Given the description of an element on the screen output the (x, y) to click on. 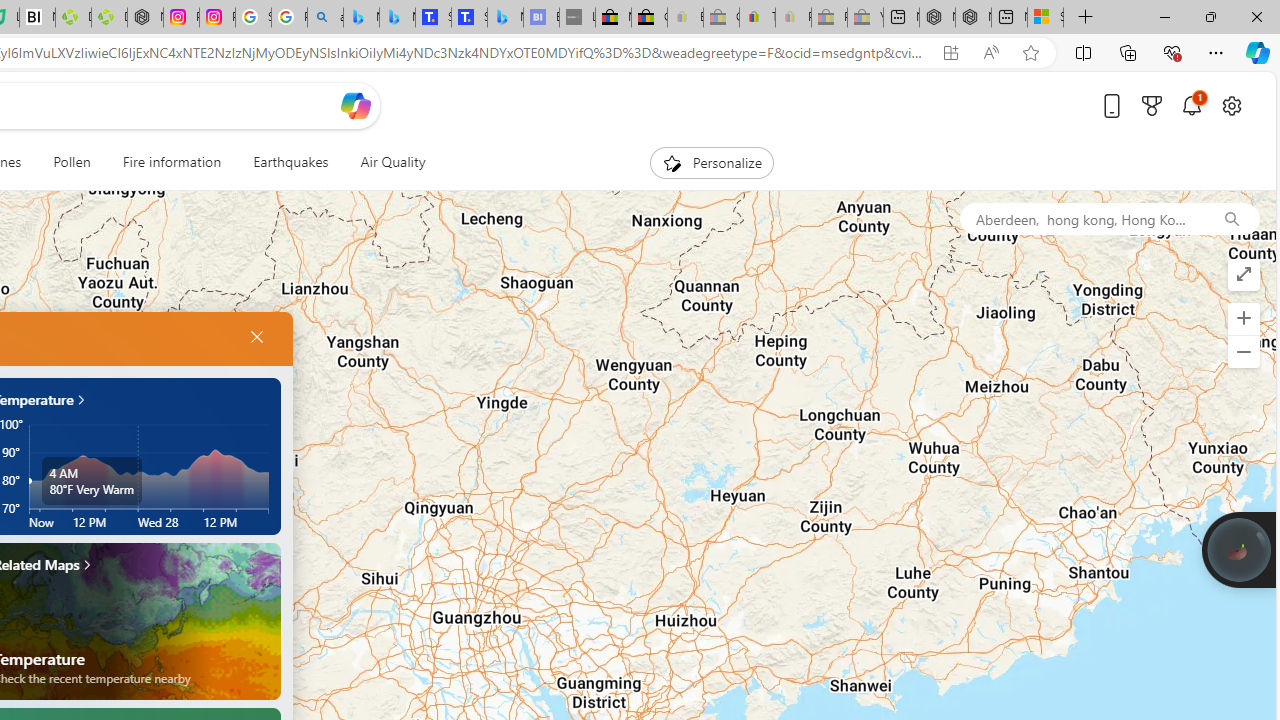
Threats and offensive language policy | eBay (756, 17)
Fire information (172, 162)
Join us in planting real trees to help our planet! (1239, 549)
Zoom in (1243, 318)
Open settings (1231, 105)
Enter full screen mode (1243, 274)
Safety in Our Products - Google Safety Center (253, 17)
